Given the description of an element on the screen output the (x, y) to click on. 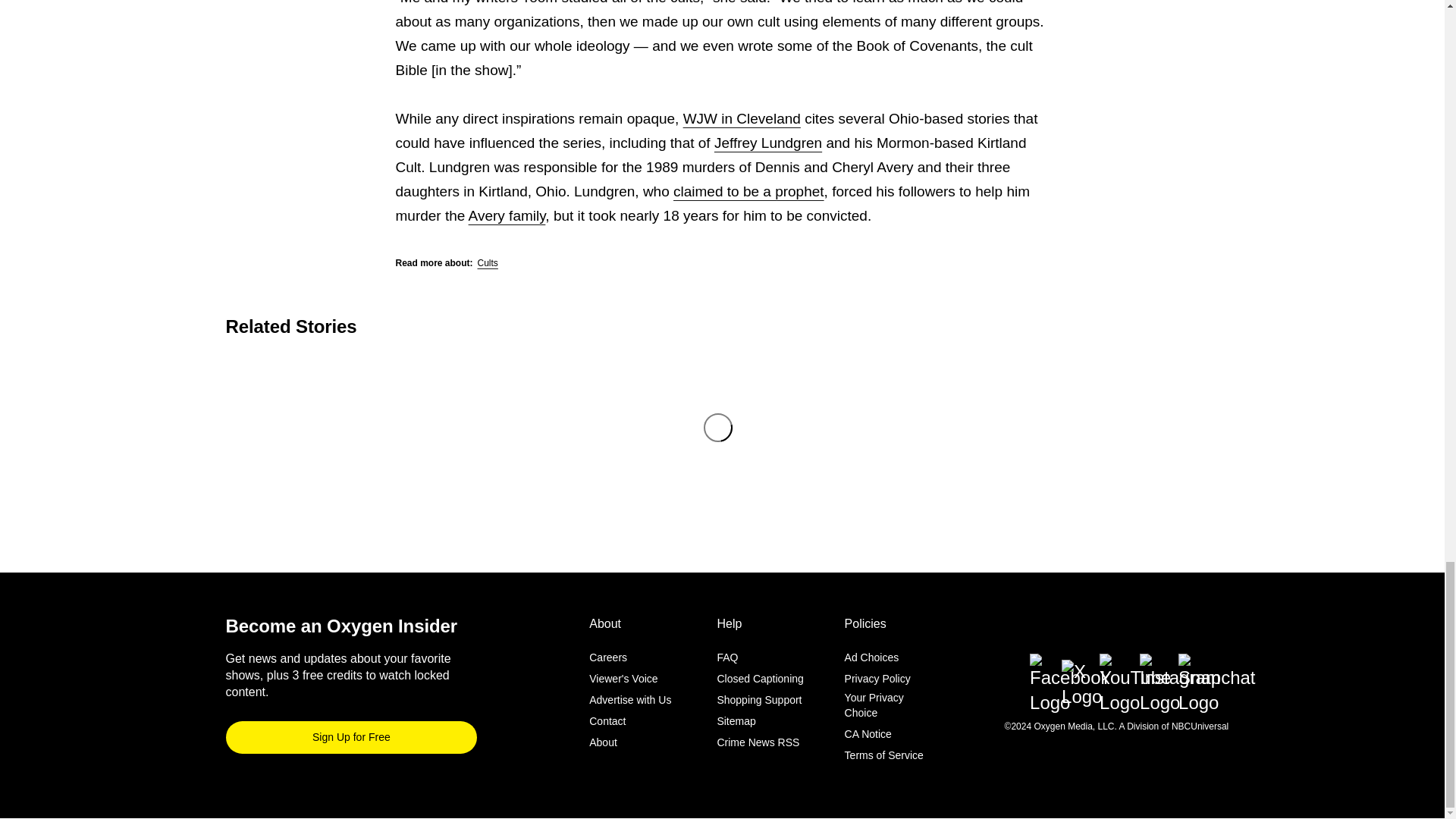
Advertise with Us (630, 700)
Avery family (507, 215)
Jeffrey Lundgren (768, 142)
WJW in Cleveland (741, 118)
Cults (487, 262)
claimed to be a prophet (748, 191)
